Given the description of an element on the screen output the (x, y) to click on. 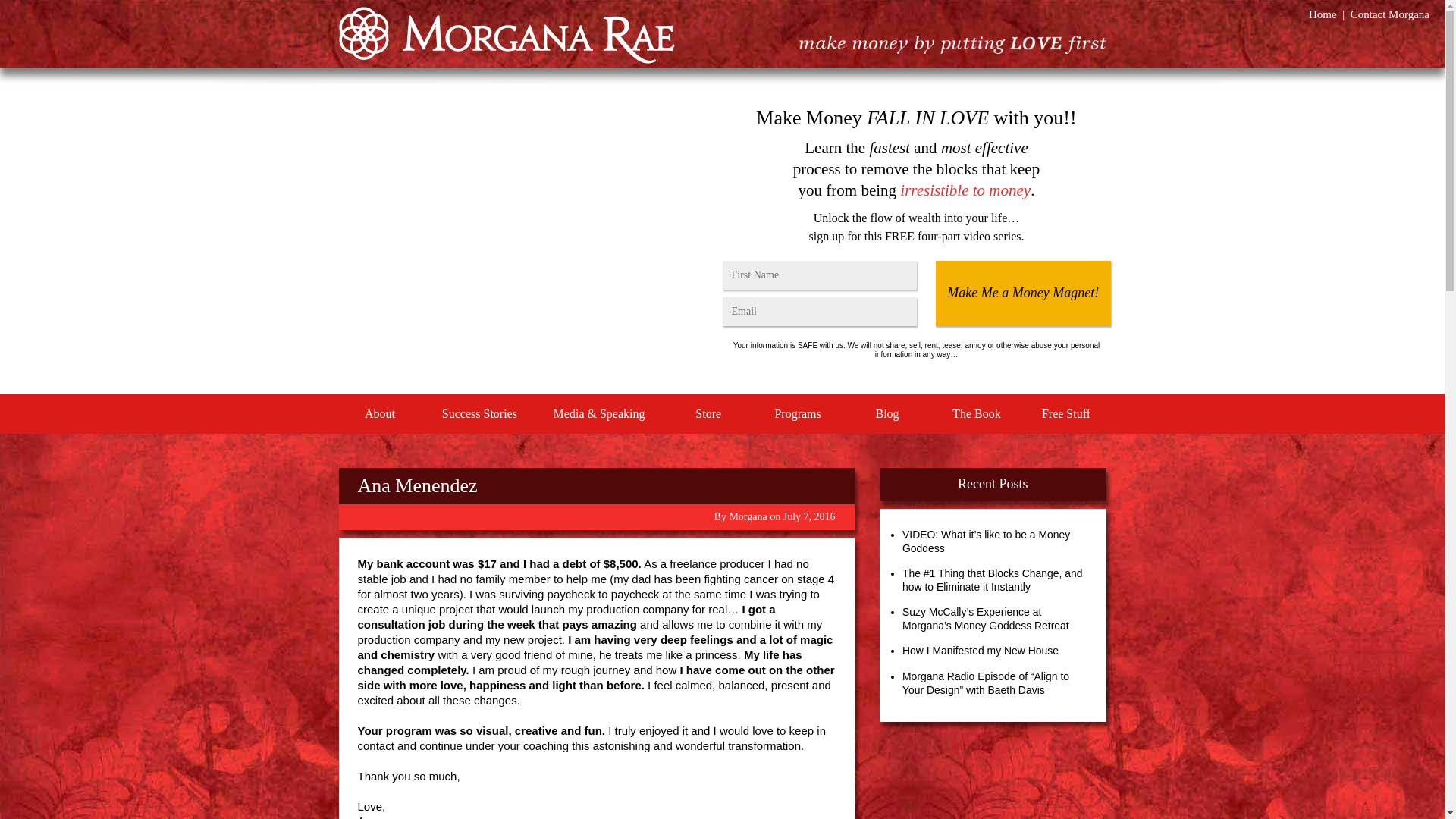
The Book (977, 413)
Posts by Morgana (748, 516)
Free Stuff (1065, 413)
About (378, 413)
Success Stories (479, 413)
Make Me a Money Magnet! (1022, 293)
Home (1322, 14)
Contact Morgana (1390, 14)
Make Me a Money Magnet! (1022, 293)
Programs (798, 413)
